Given the description of an element on the screen output the (x, y) to click on. 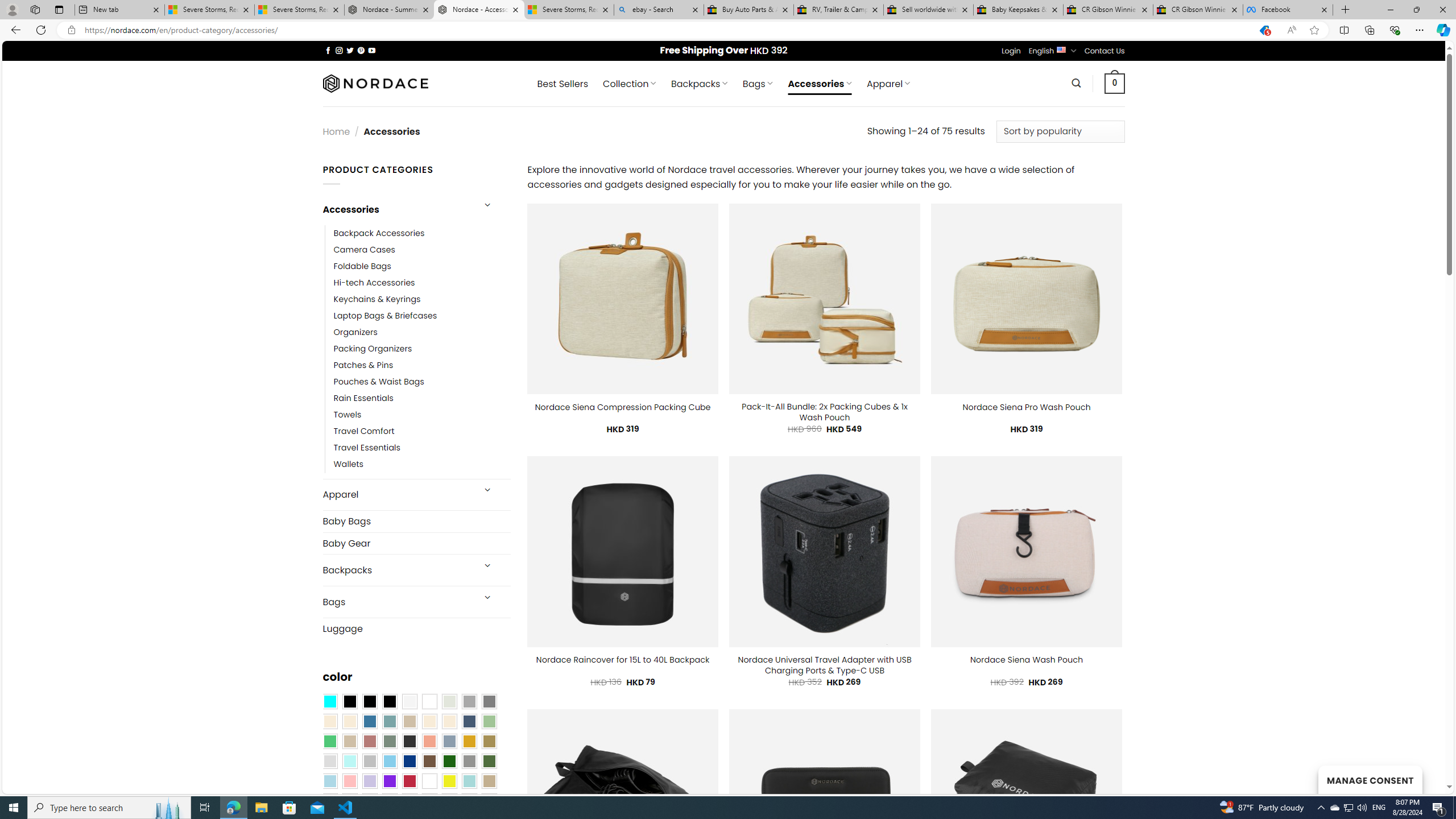
Foldable Bags (362, 265)
Charcoal (408, 741)
Khaki (488, 780)
Sky Blue (389, 761)
Hi-tech Accessories (422, 282)
Baby Bags (416, 521)
Backpack Accessories (422, 232)
Nordace Siena Compression Packing Cube (622, 406)
Hi-tech Accessories (373, 282)
Patches & Pins (363, 365)
